Given the description of an element on the screen output the (x, y) to click on. 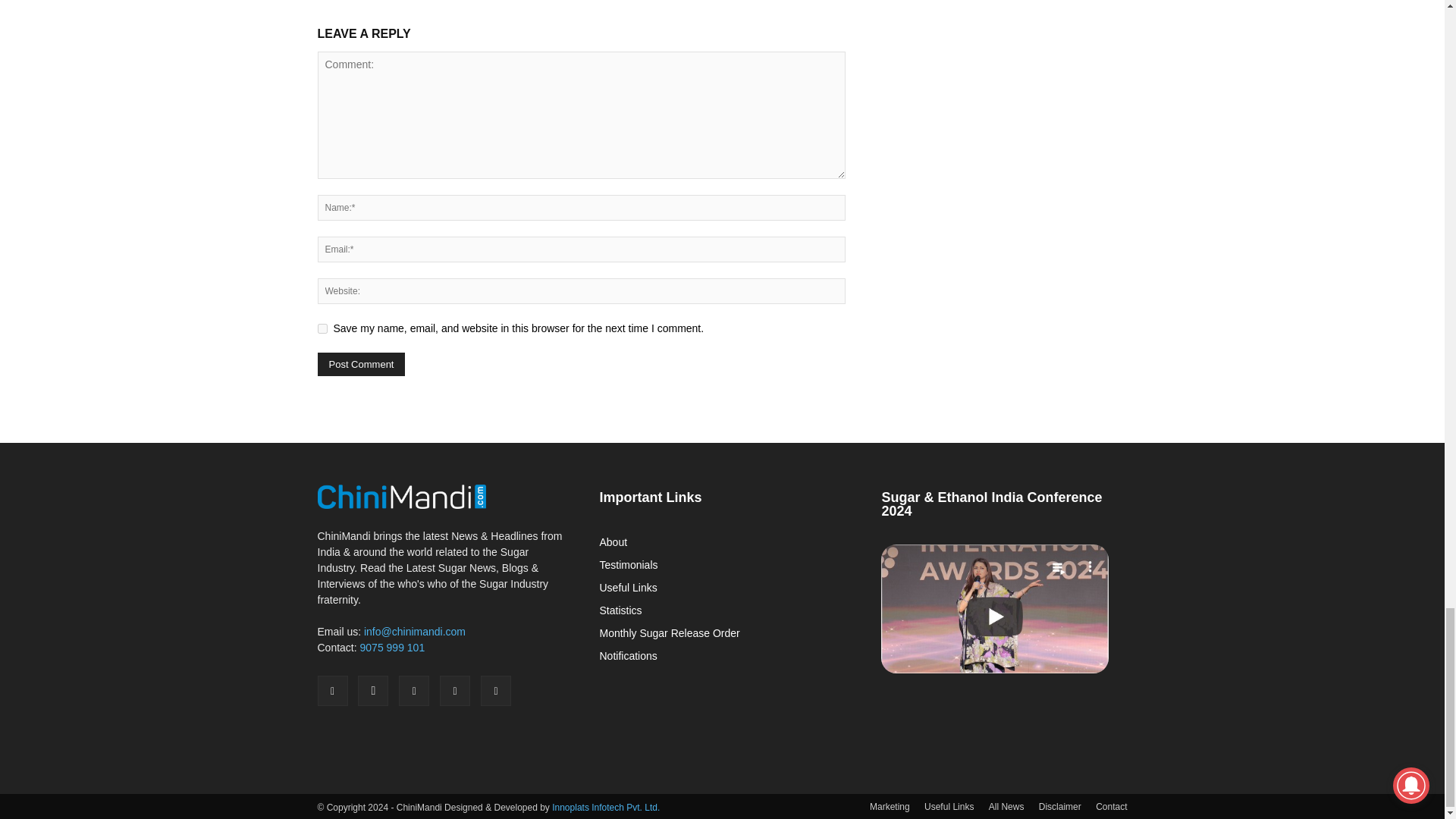
Post Comment (360, 363)
yes (321, 328)
